Given the description of an element on the screen output the (x, y) to click on. 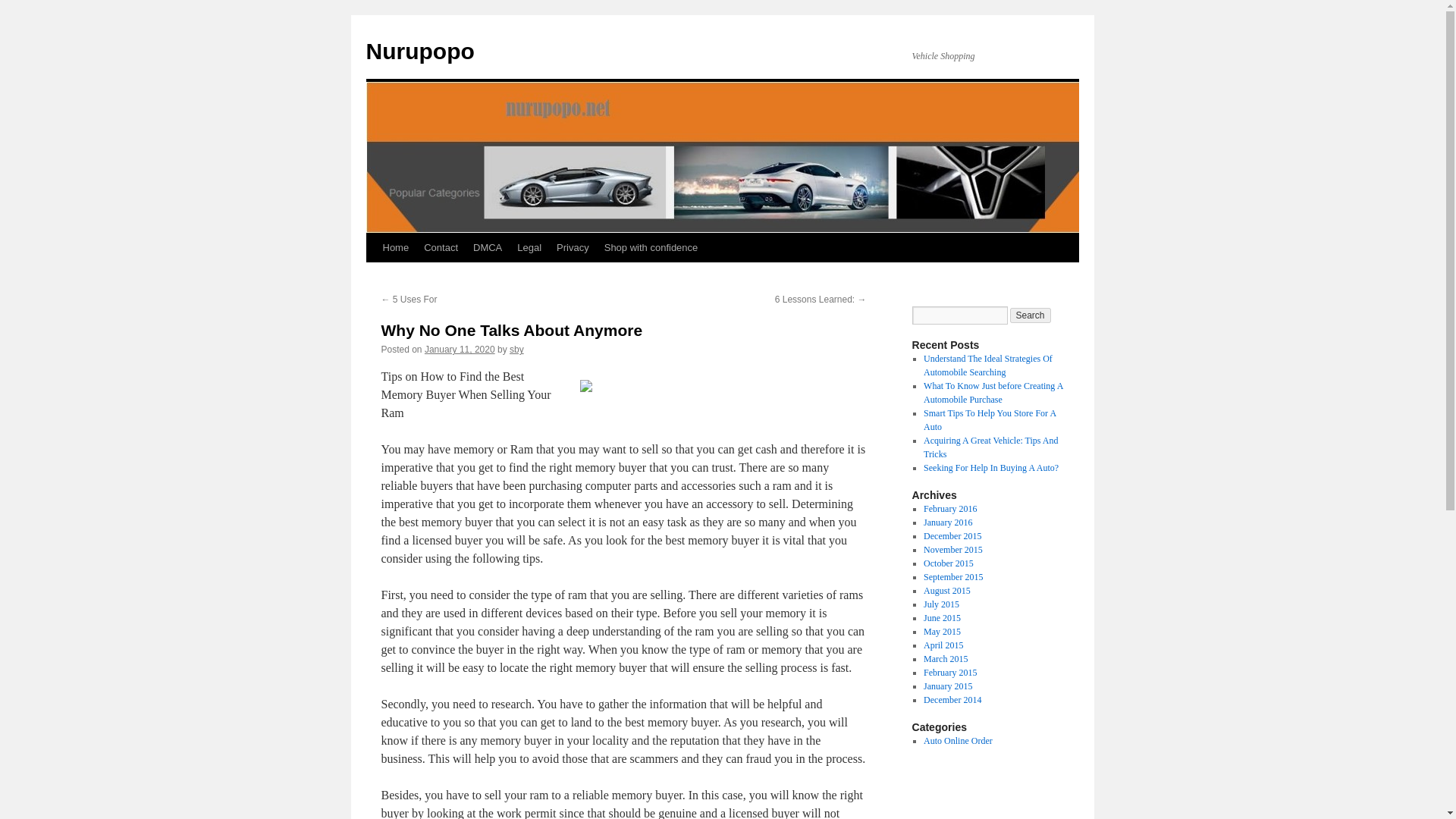
April 2015 (942, 644)
January 2015 (947, 685)
What To Know Just before Creating A Automobile Purchase (992, 392)
July 2015 (941, 603)
December 2014 (952, 699)
Legal (528, 247)
Shop with confidence (651, 247)
Smart Tips To Help You Store For A Auto (989, 419)
Seeking For Help In Buying A Auto? (990, 467)
View all posts by sby (516, 348)
Nurupopo (419, 50)
August 2015 (947, 590)
February 2016 (949, 508)
Contact (440, 247)
January 11, 2020 (460, 348)
